Given the description of an element on the screen output the (x, y) to click on. 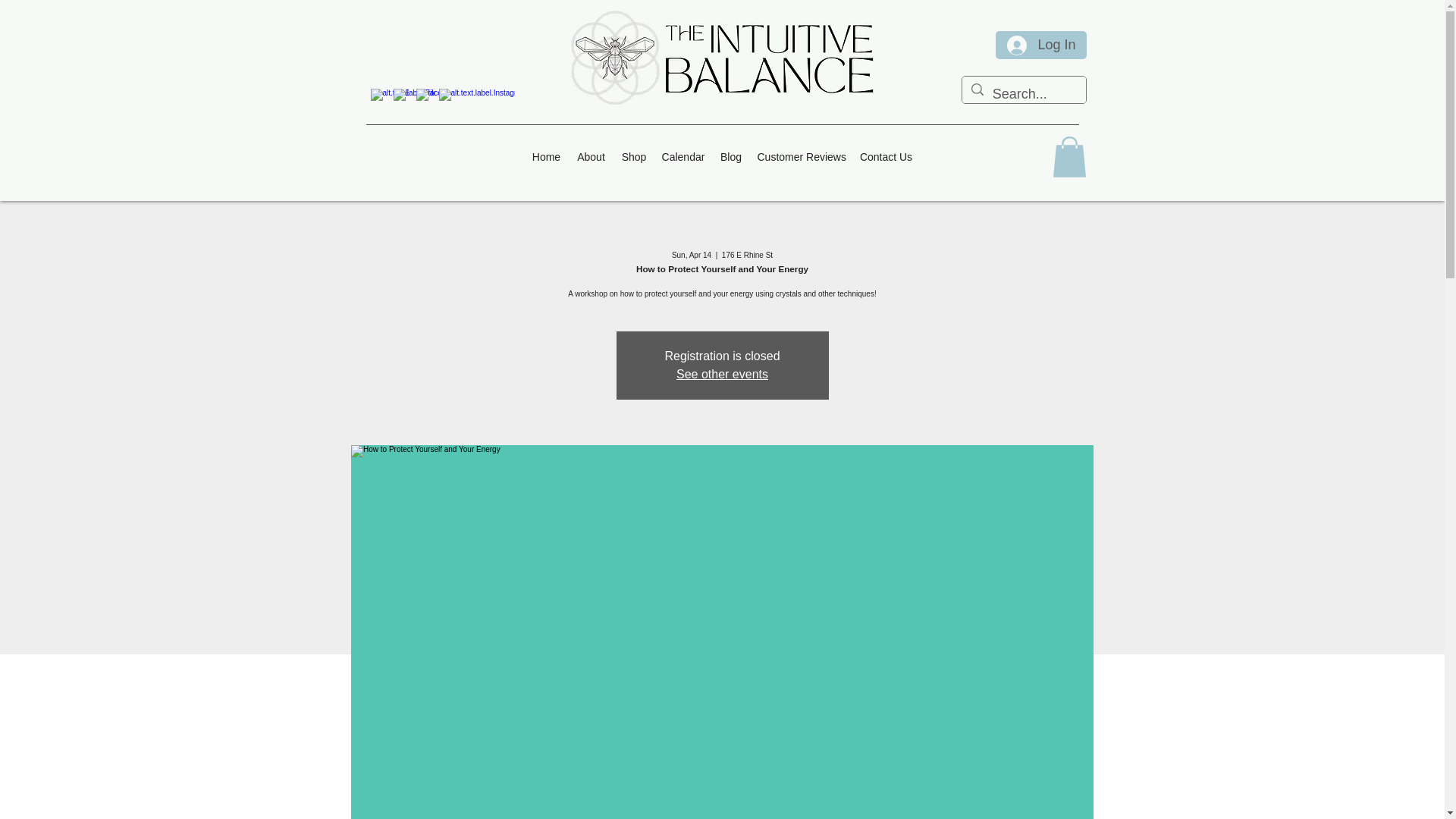
Shop (633, 156)
About (591, 156)
Contact Us (885, 156)
Calendar (682, 156)
Home (546, 156)
See other events (722, 373)
Customer Reviews (800, 156)
Blog (731, 156)
intuitive-balance-logo-mockup.png (722, 57)
Log In (1040, 45)
